Given the description of an element on the screen output the (x, y) to click on. 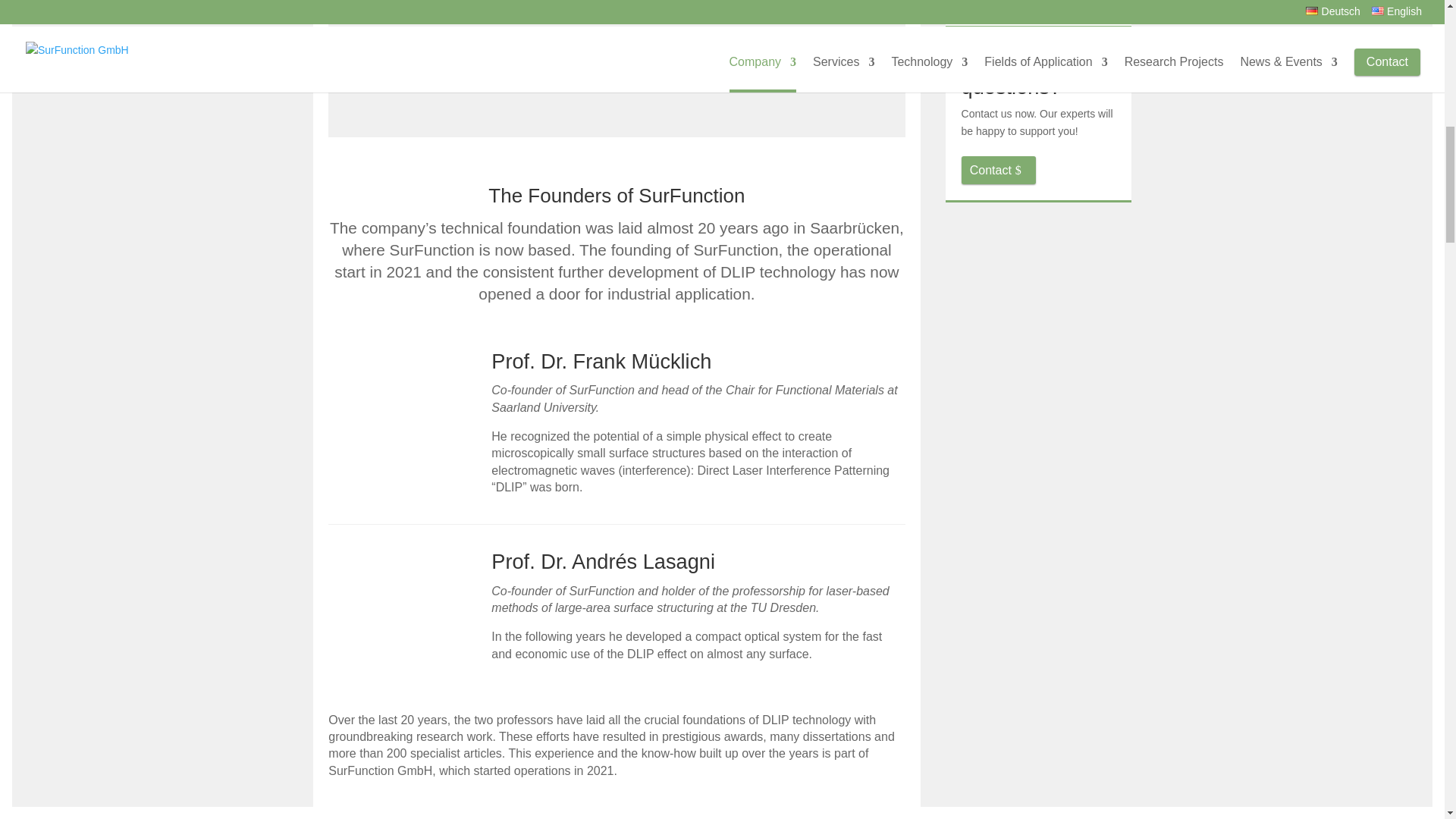
Contact (997, 170)
